Given the description of an element on the screen output the (x, y) to click on. 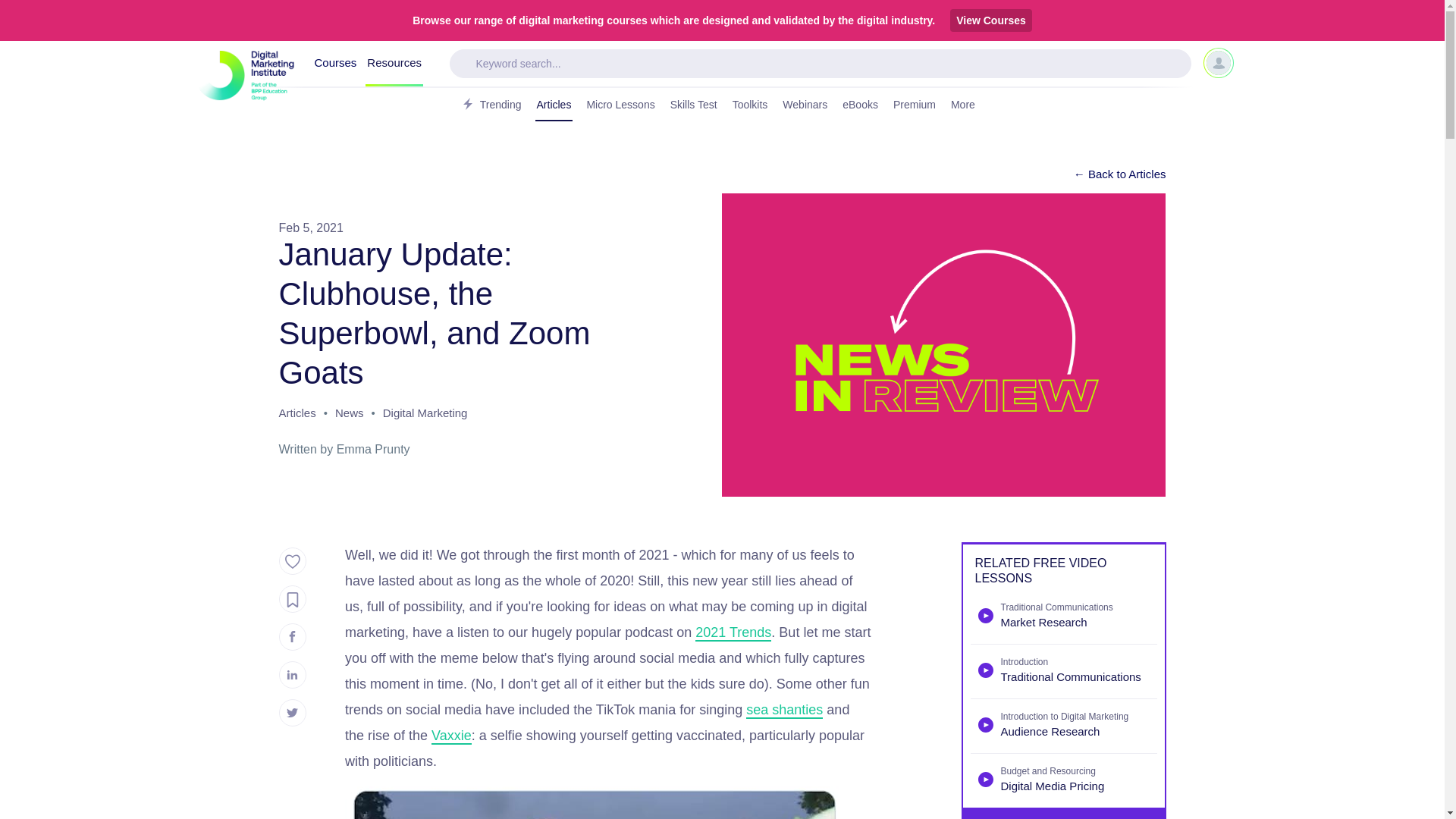
Click to share this post on Twitter (292, 712)
Trending (489, 104)
Webinars (804, 104)
Digital Marketing (424, 415)
Resources (394, 62)
Toolkits (750, 104)
eBooks (860, 104)
Micro Lessons (620, 104)
Articles (297, 415)
Vaxxie (450, 736)
